Given the description of an element on the screen output the (x, y) to click on. 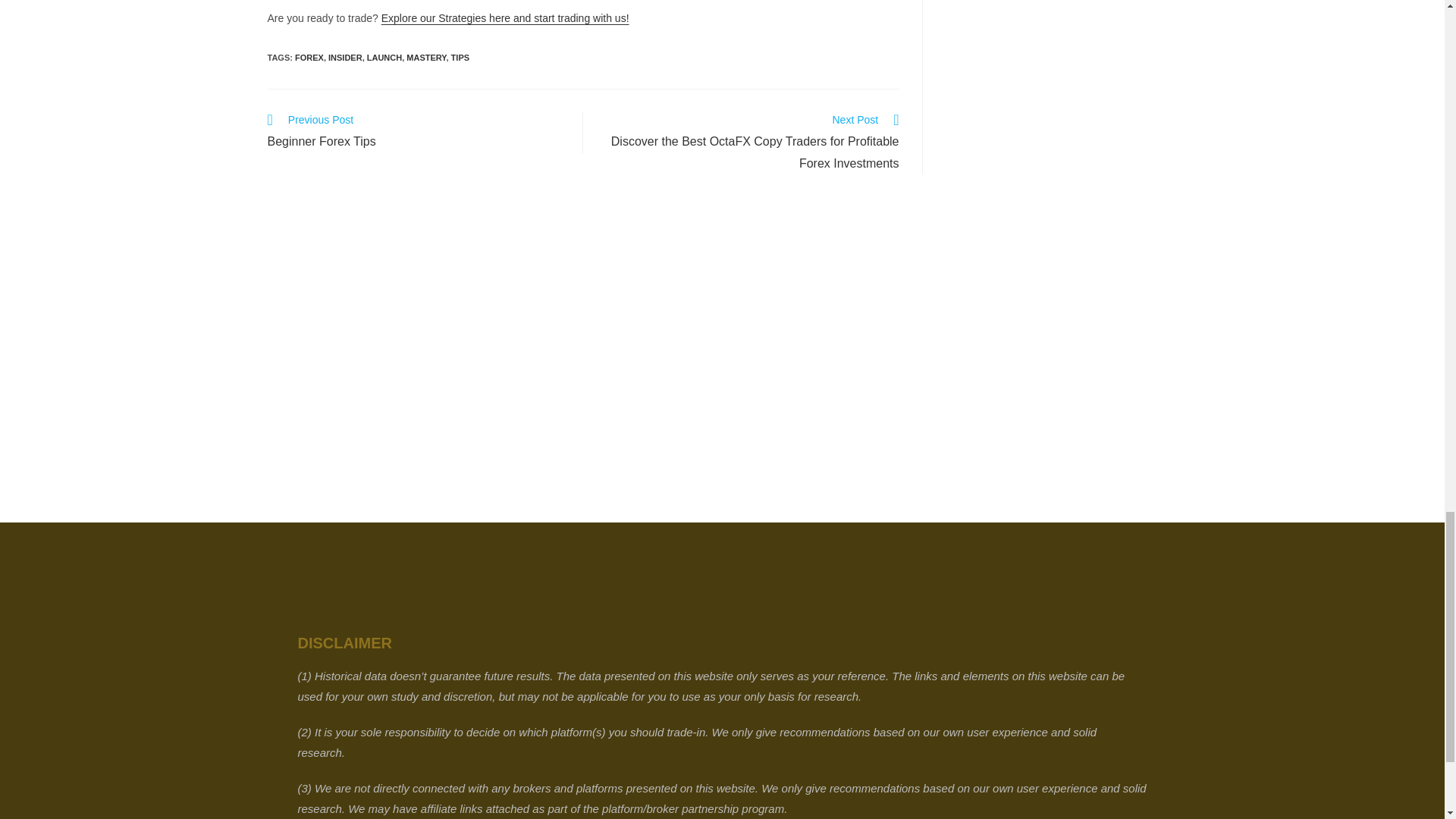
TIPS (416, 132)
INSIDER (459, 57)
LAUNCH (345, 57)
Sign up (383, 57)
Explore our Strategies here and start trading with us! (776, 498)
MASTERY (504, 18)
FOREX (425, 57)
